Given the description of an element on the screen output the (x, y) to click on. 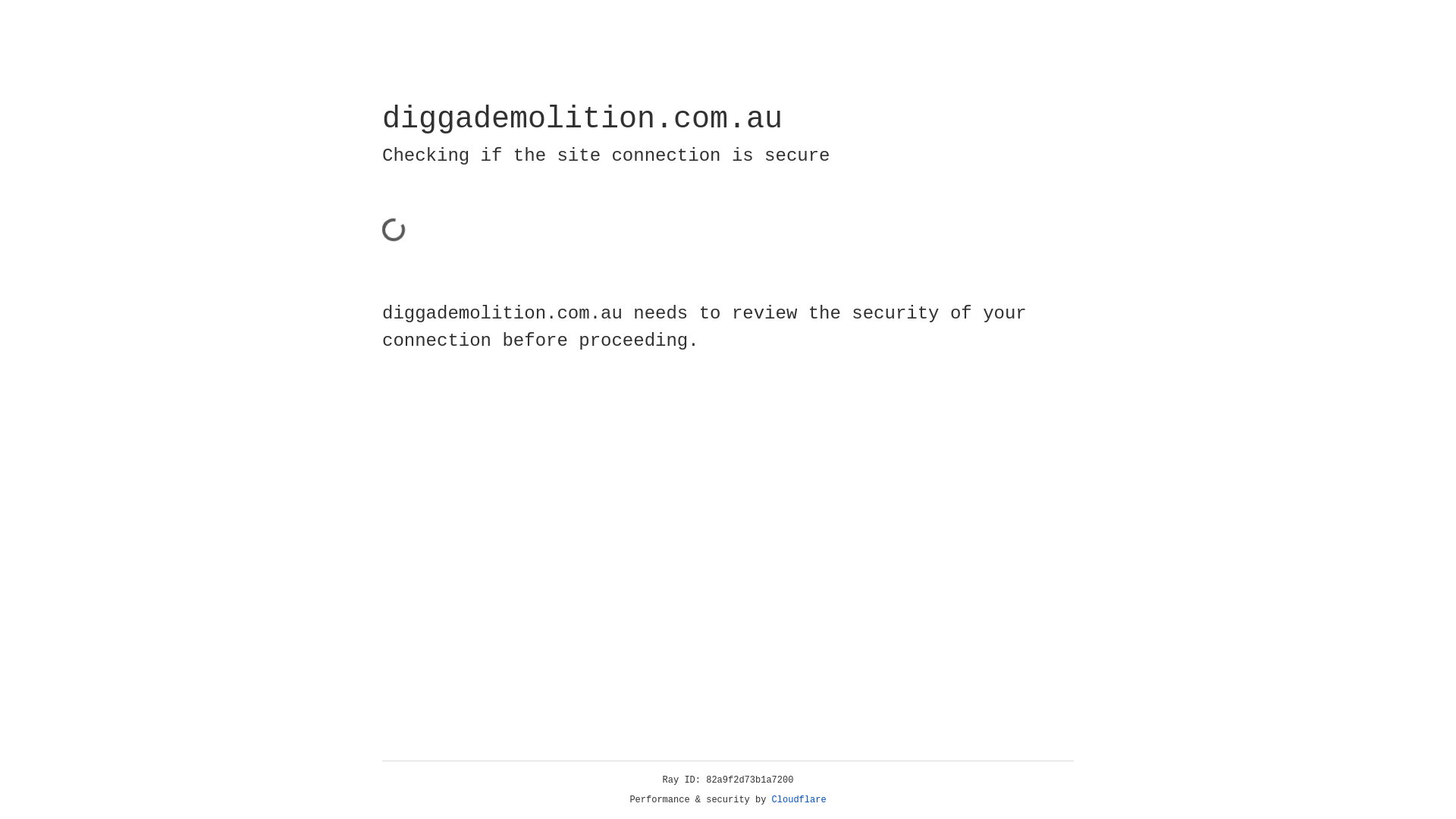
Cloudflare Element type: text (798, 799)
